Given the description of an element on the screen output the (x, y) to click on. 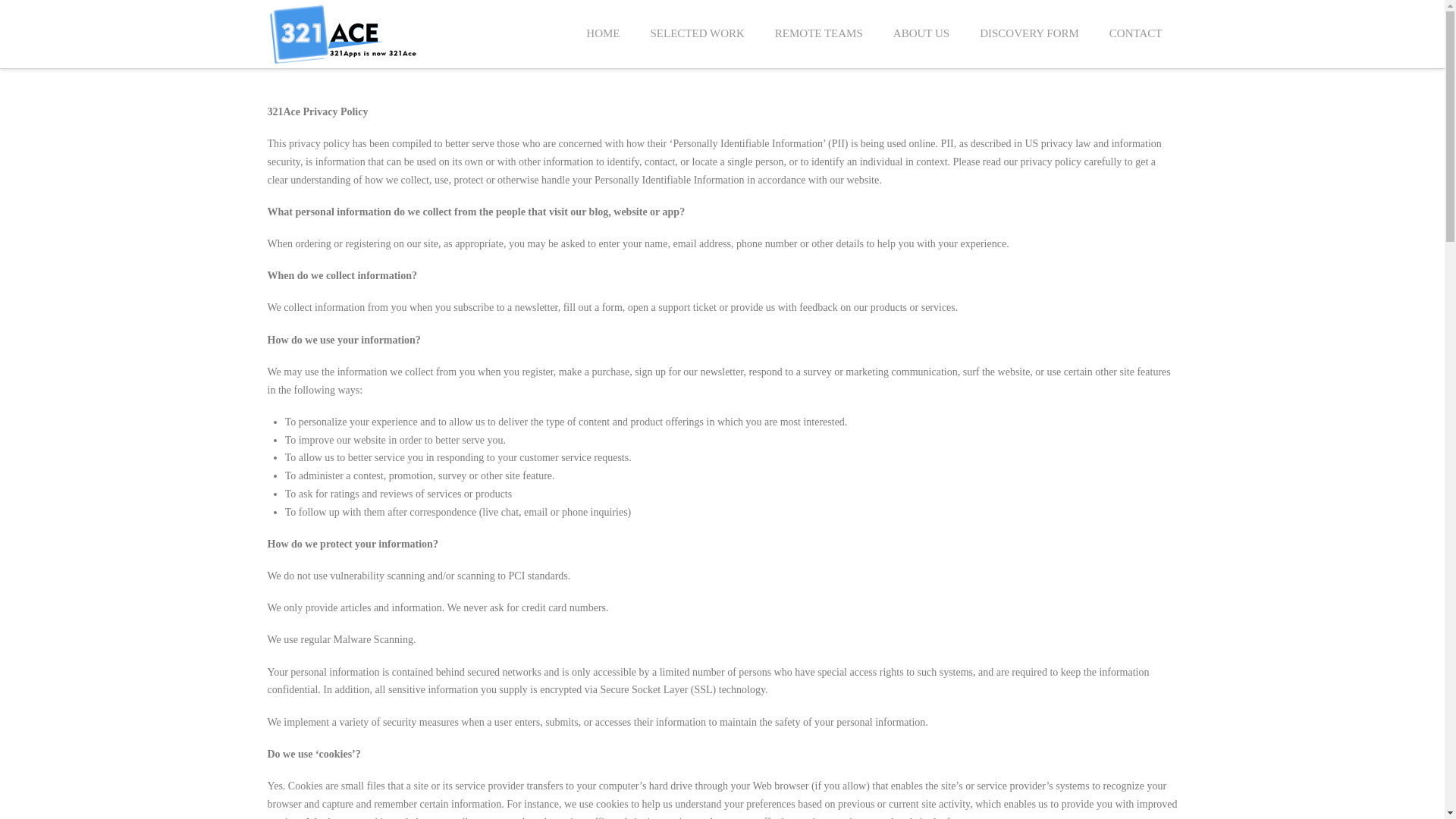
SELECTED WORK Element type: text (697, 34)
HOME Element type: text (602, 34)
DISCOVERY FORM Element type: text (1029, 34)
REMOTE TEAMS Element type: text (818, 34)
ABOUT US Element type: text (921, 34)
CONTACT Element type: text (1135, 34)
